Given the description of an element on the screen output the (x, y) to click on. 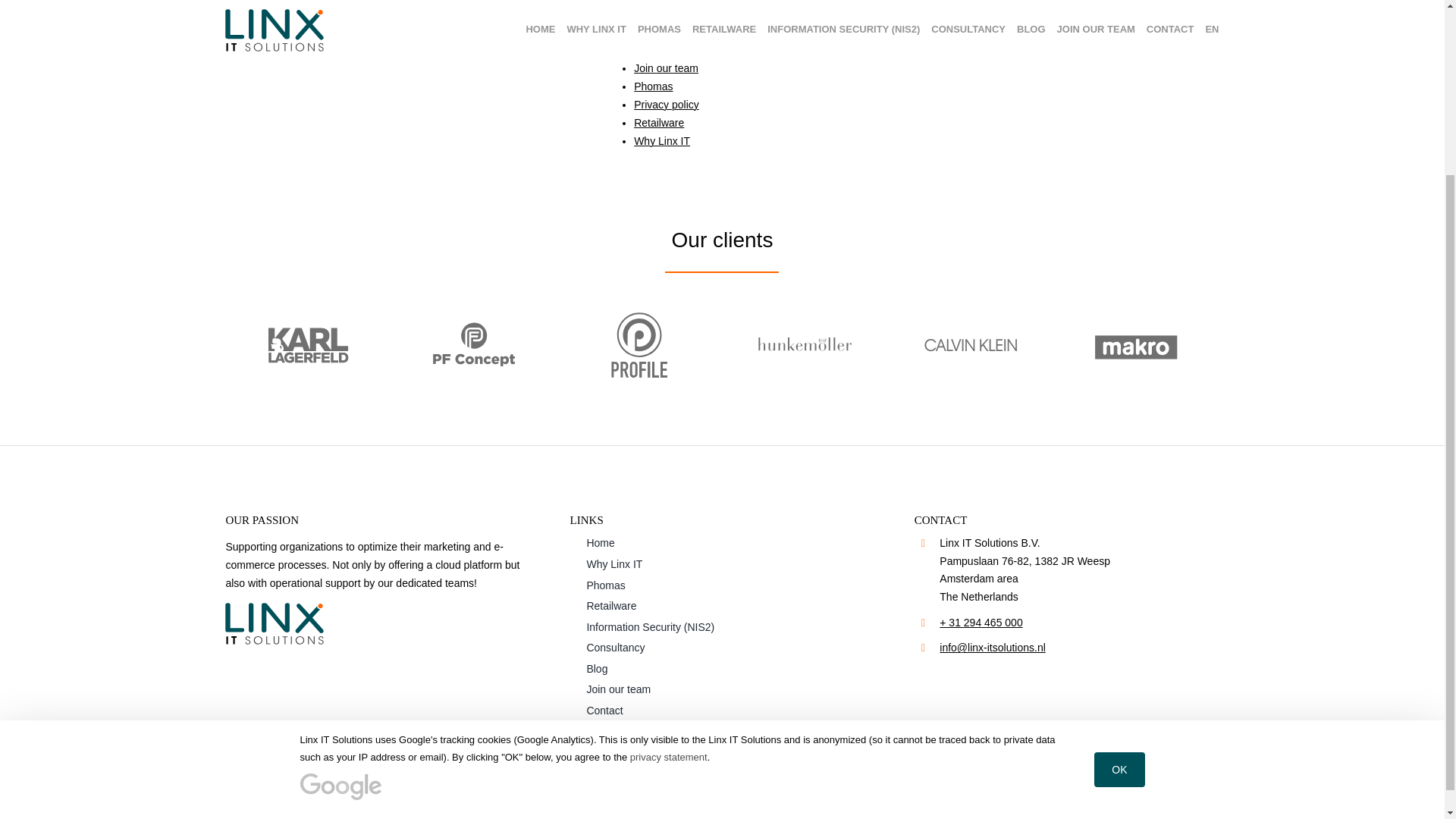
Privacy policy (711, 753)
Glossary (790, 753)
Privacy policy (665, 104)
Phomas (722, 585)
Retailware (722, 605)
Retailware (658, 122)
NHWS (906, 753)
Why Linx IT (661, 141)
Contact (722, 710)
Home (647, 31)
Join our team (665, 68)
Join our team (722, 689)
Phomas (652, 86)
Blog (722, 668)
Glossary (654, 13)
